Given the description of an element on the screen output the (x, y) to click on. 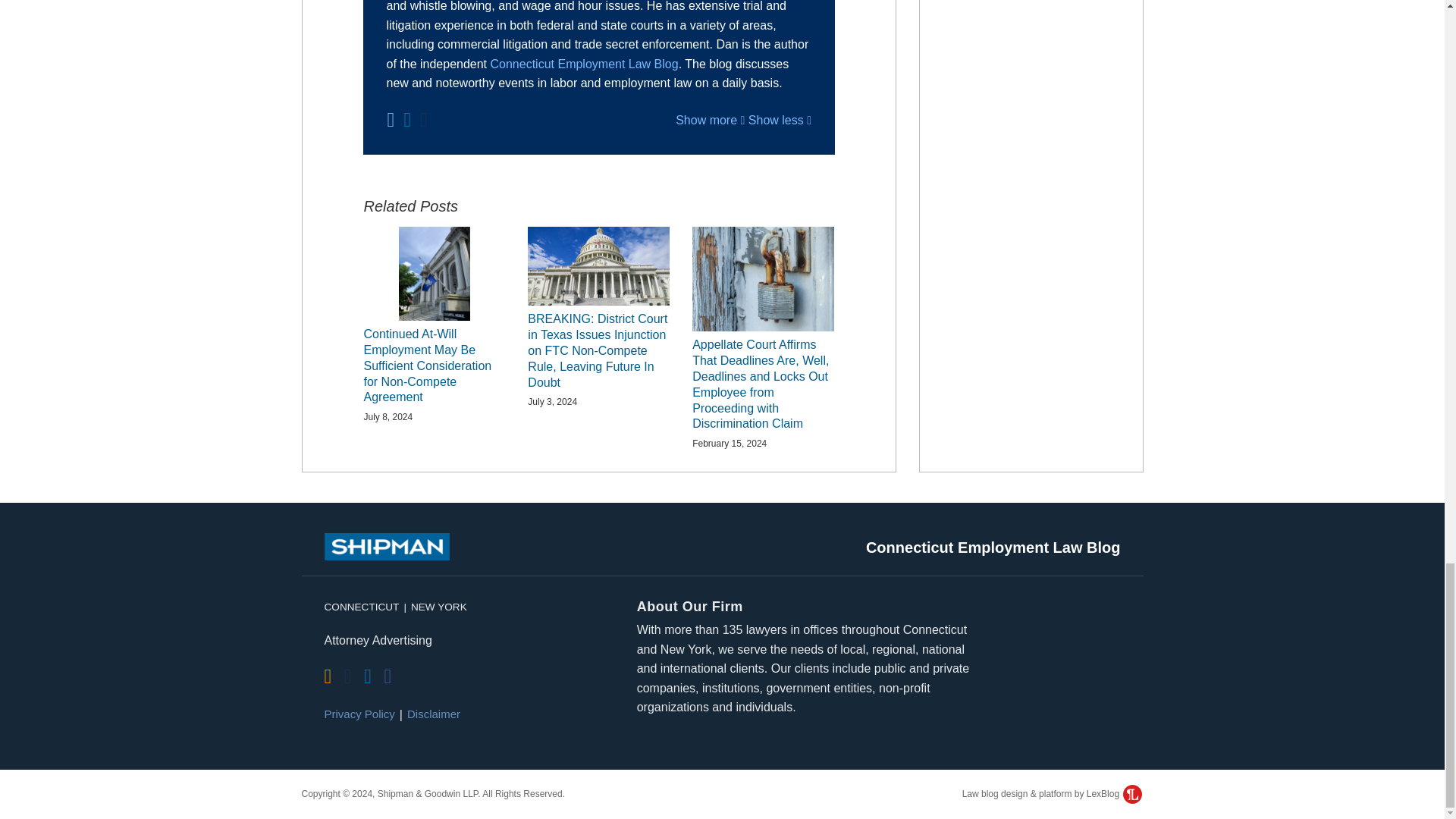
Connecticut Employment Law Blog (584, 63)
LexBlog Logo (1131, 793)
